Given the description of an element on the screen output the (x, y) to click on. 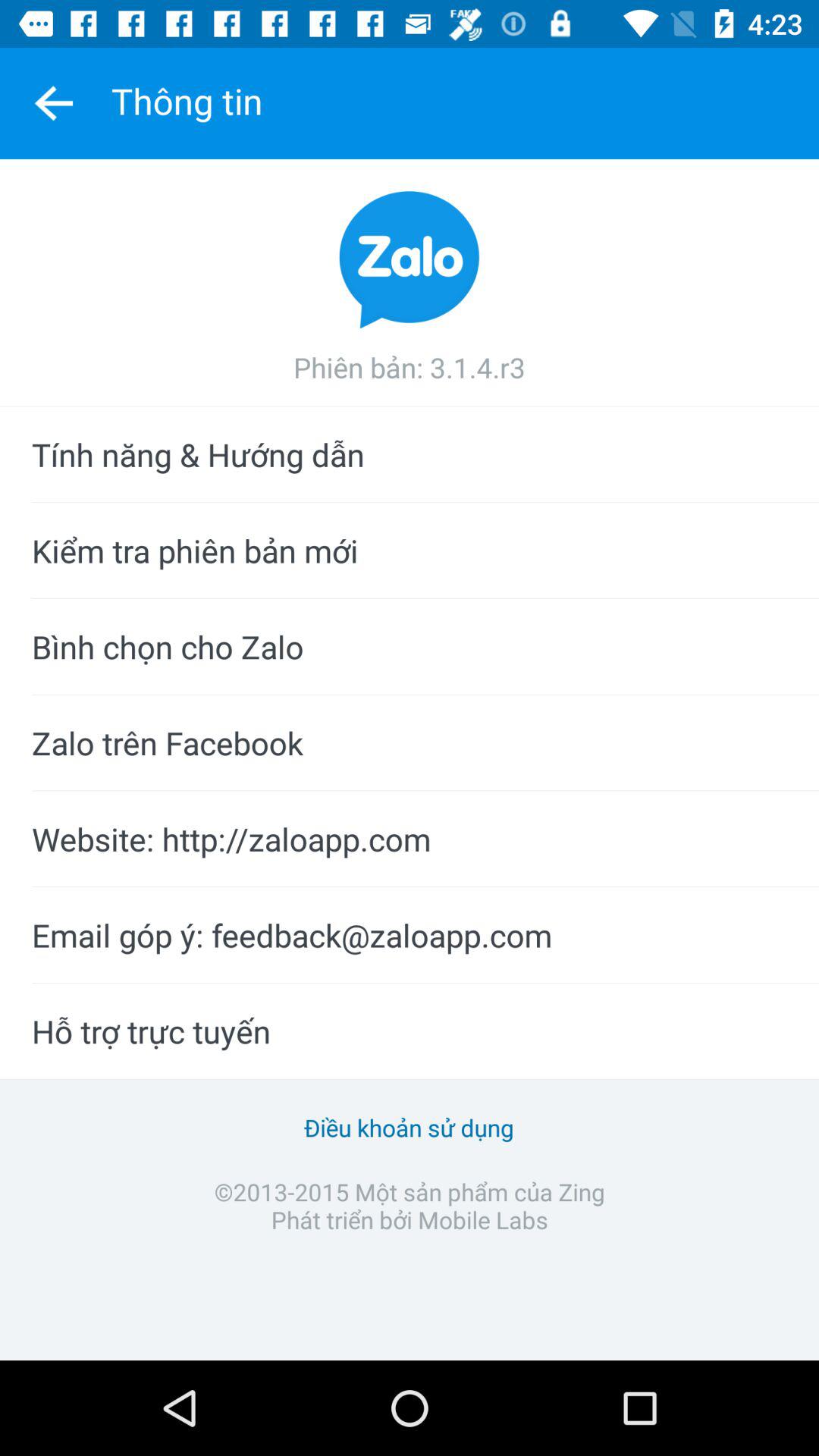
turn on icon below the website http zaloapp item (409, 934)
